Given the description of an element on the screen output the (x, y) to click on. 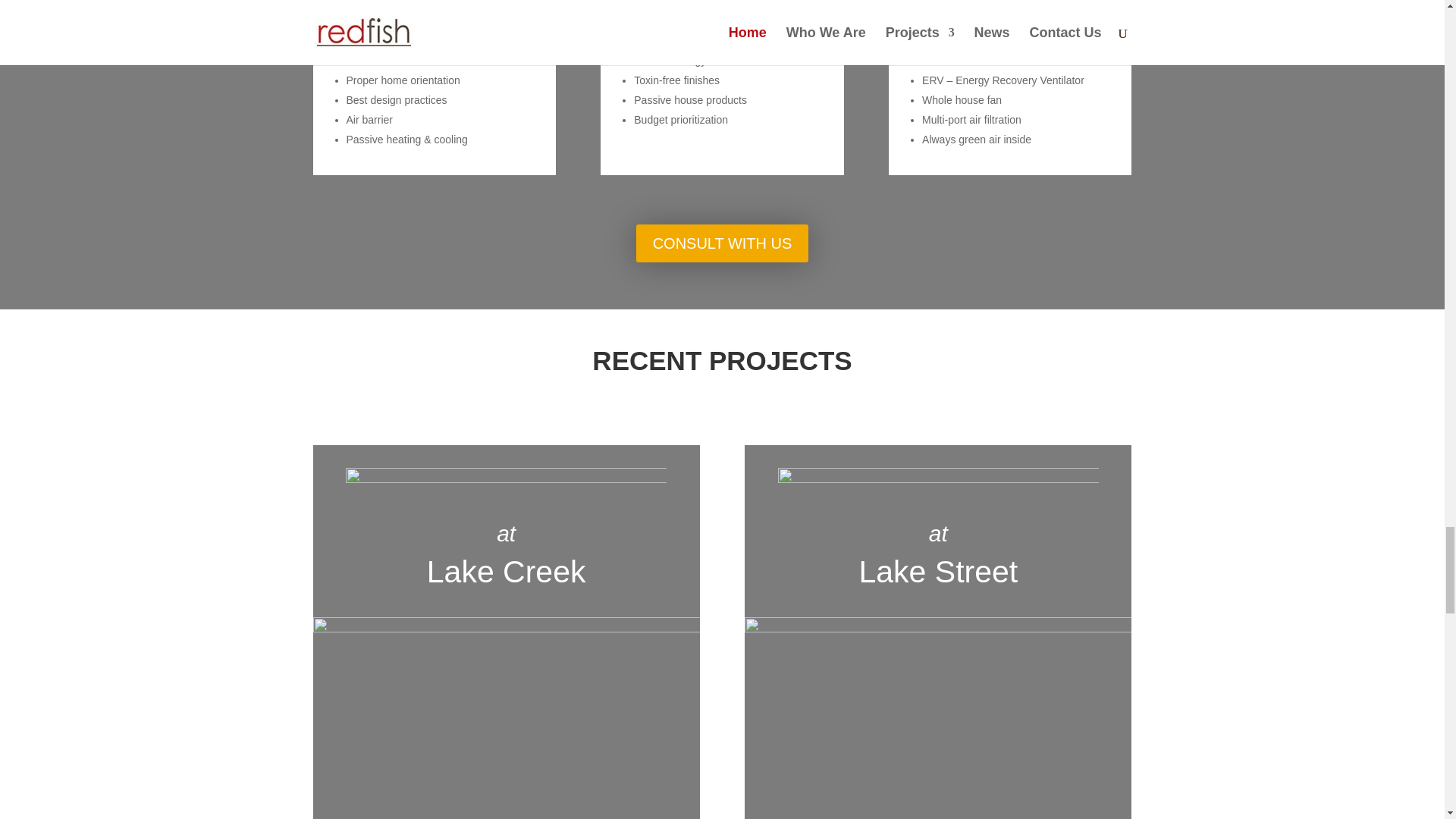
CONSULT WITH US (722, 243)
